Given the description of an element on the screen output the (x, y) to click on. 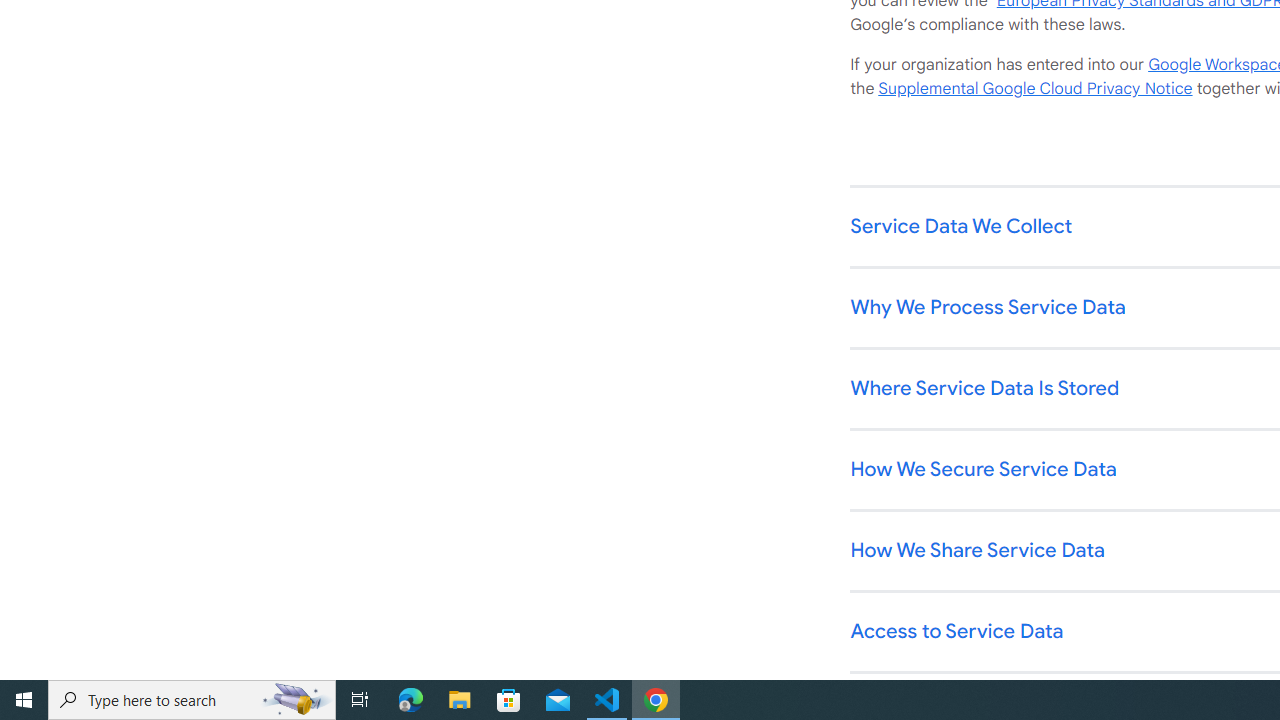
Supplemental Google Cloud Privacy Notice (1035, 89)
